Given the description of an element on the screen output the (x, y) to click on. 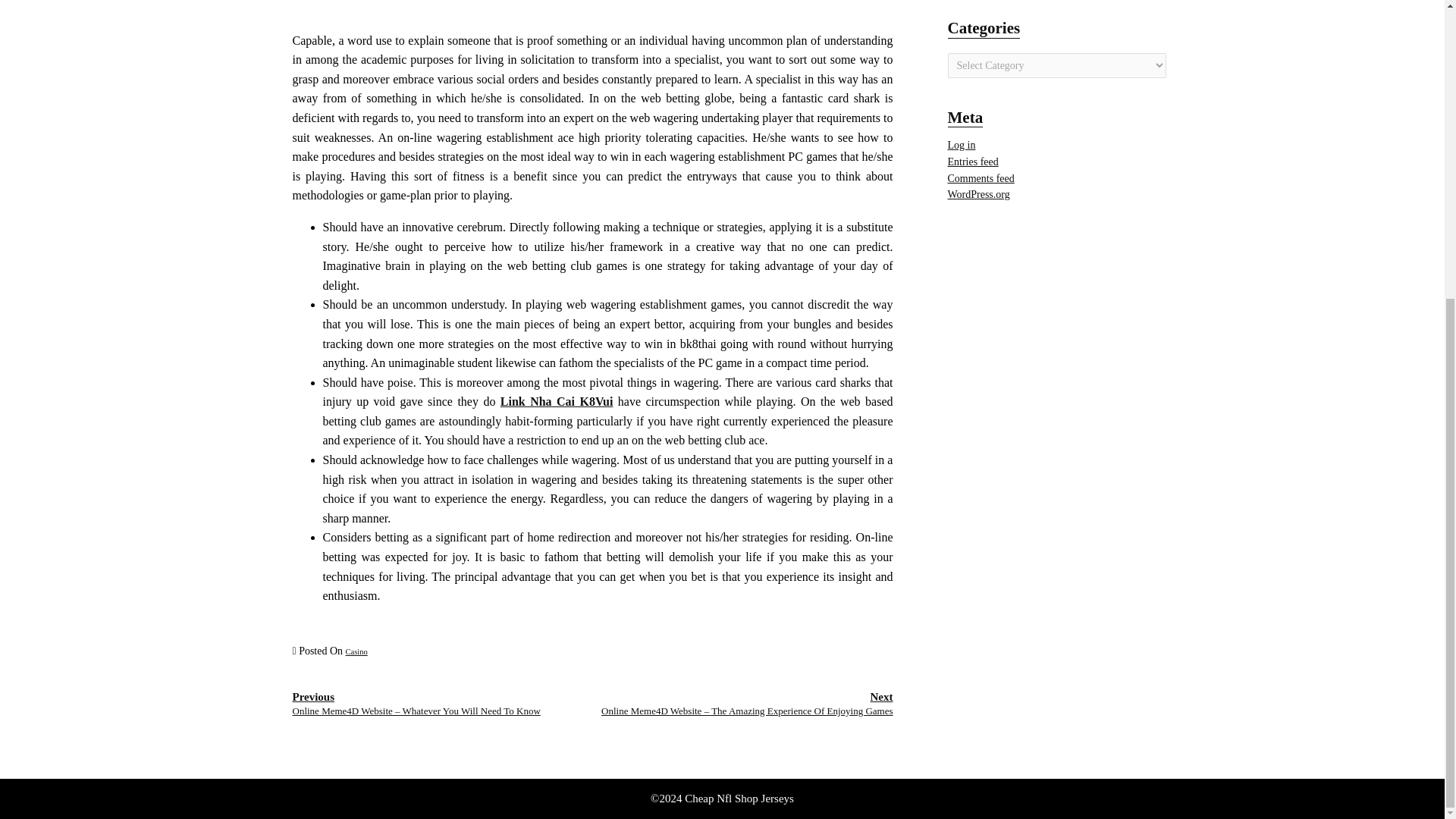
WordPress.org (978, 194)
Comments feed (980, 178)
Entries feed (972, 161)
Link Nha Cai K8Vui (556, 400)
Log in (961, 144)
Casino (357, 651)
